Given the description of an element on the screen output the (x, y) to click on. 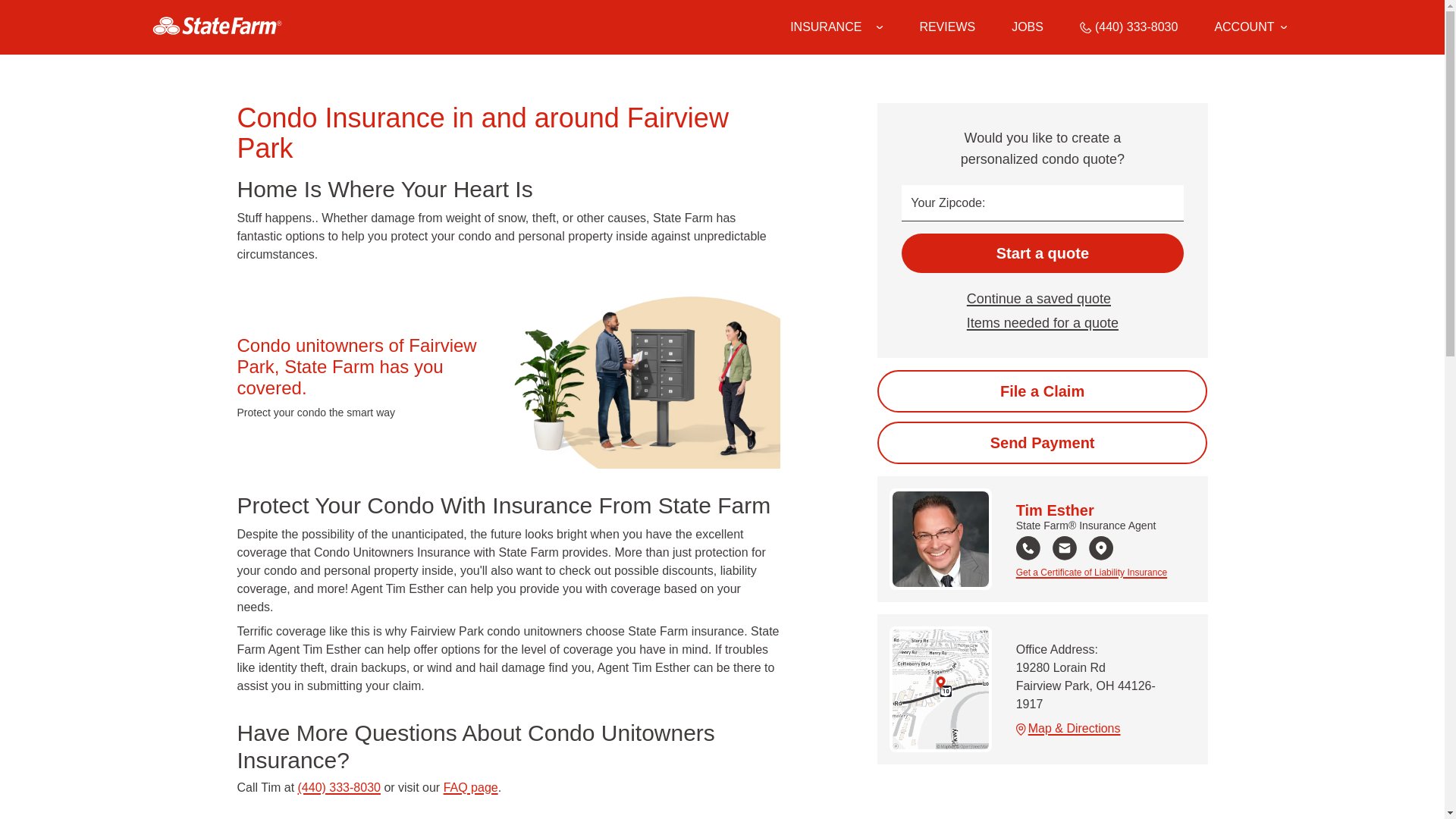
Start the claim process online (1042, 391)
Account Options (1250, 27)
Insurance (836, 27)
JOBS (1027, 27)
ACCOUNT (1250, 27)
REVIEWS (946, 27)
INSURANCE (825, 27)
